Given the description of an element on the screen output the (x, y) to click on. 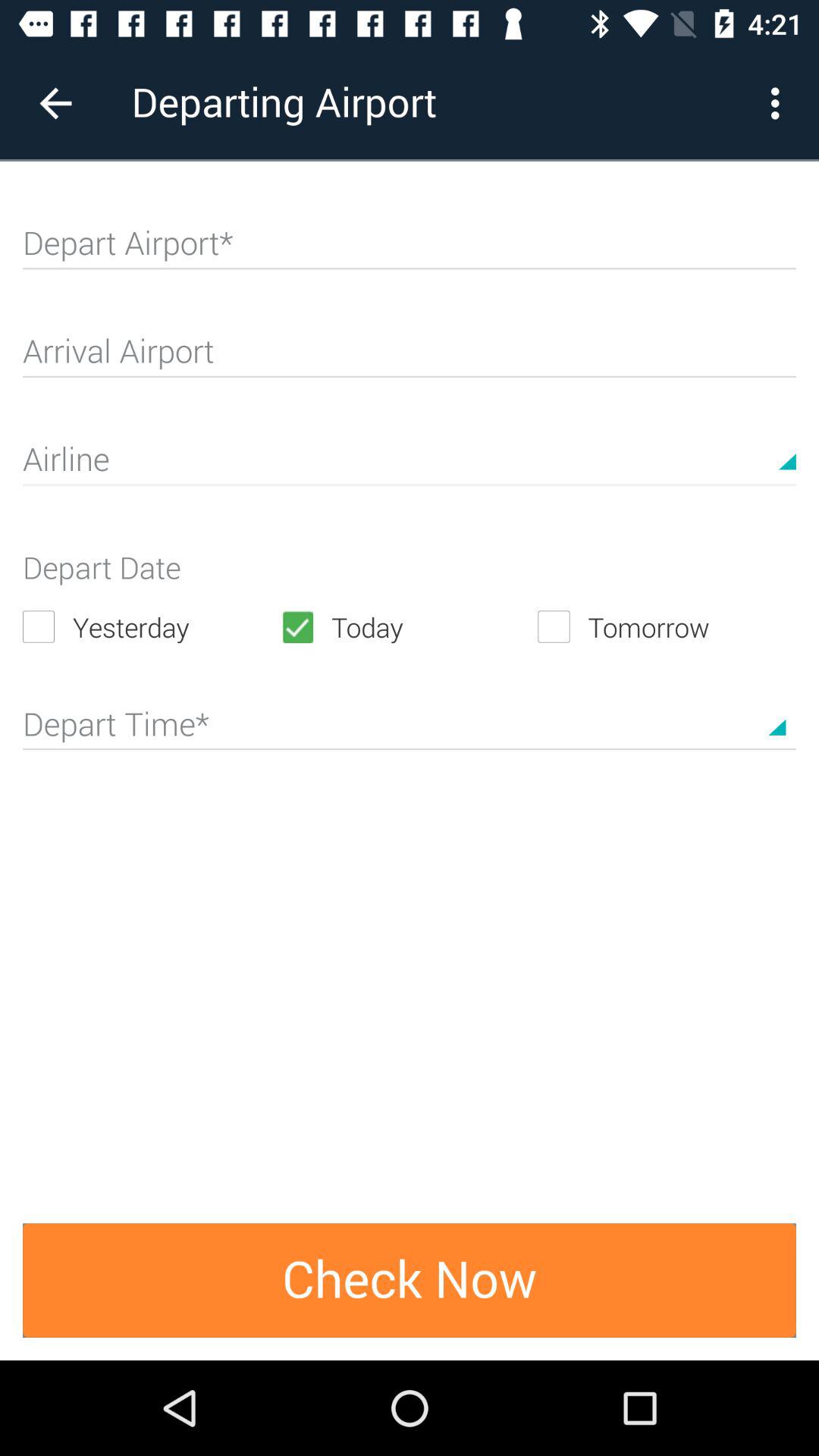
enter text (409, 465)
